Given the description of an element on the screen output the (x, y) to click on. 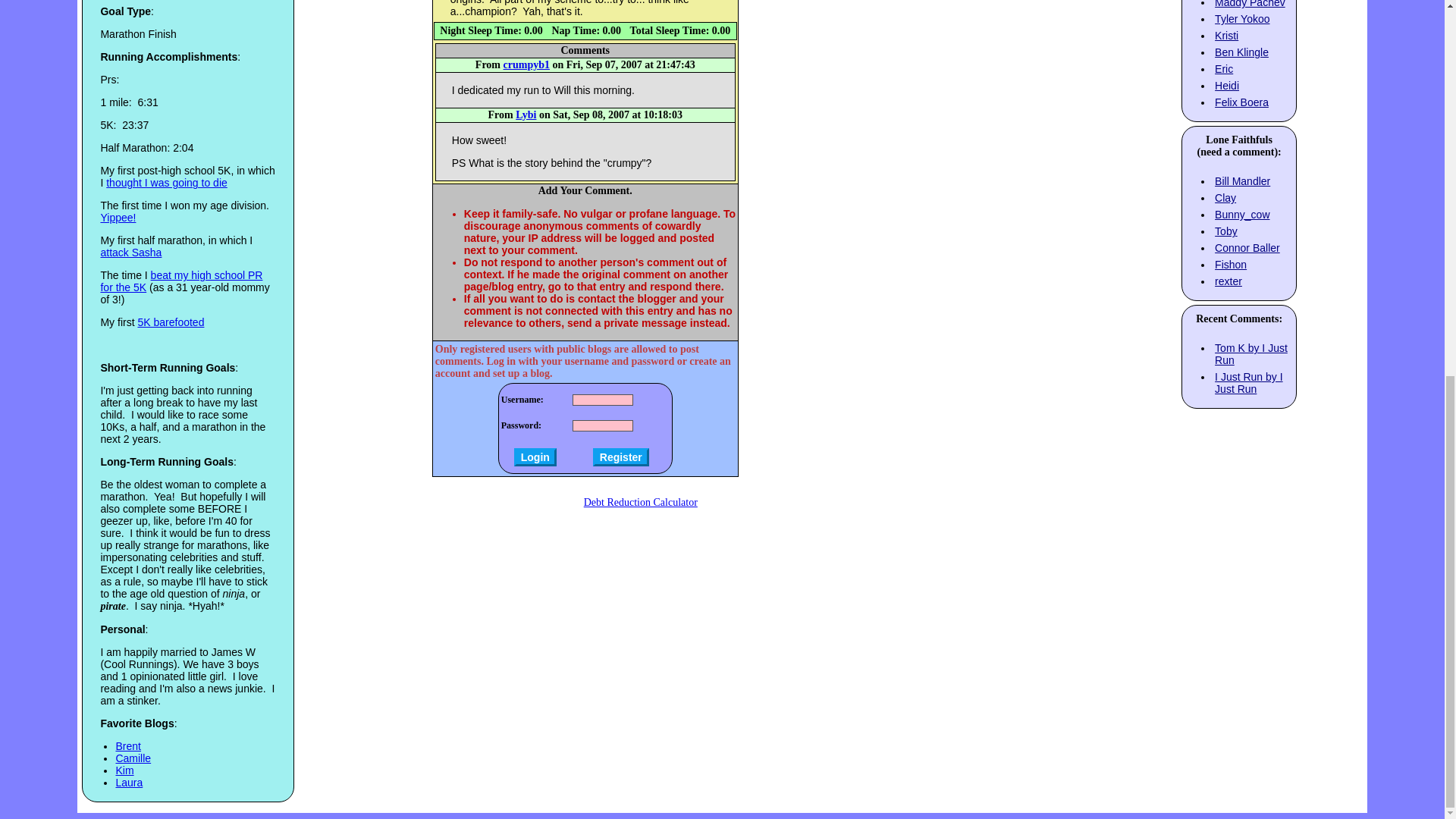
Yippee! (117, 217)
Register (620, 456)
Login (534, 456)
thought I was going to die (166, 182)
attack Sasha (130, 252)
